Given the description of an element on the screen output the (x, y) to click on. 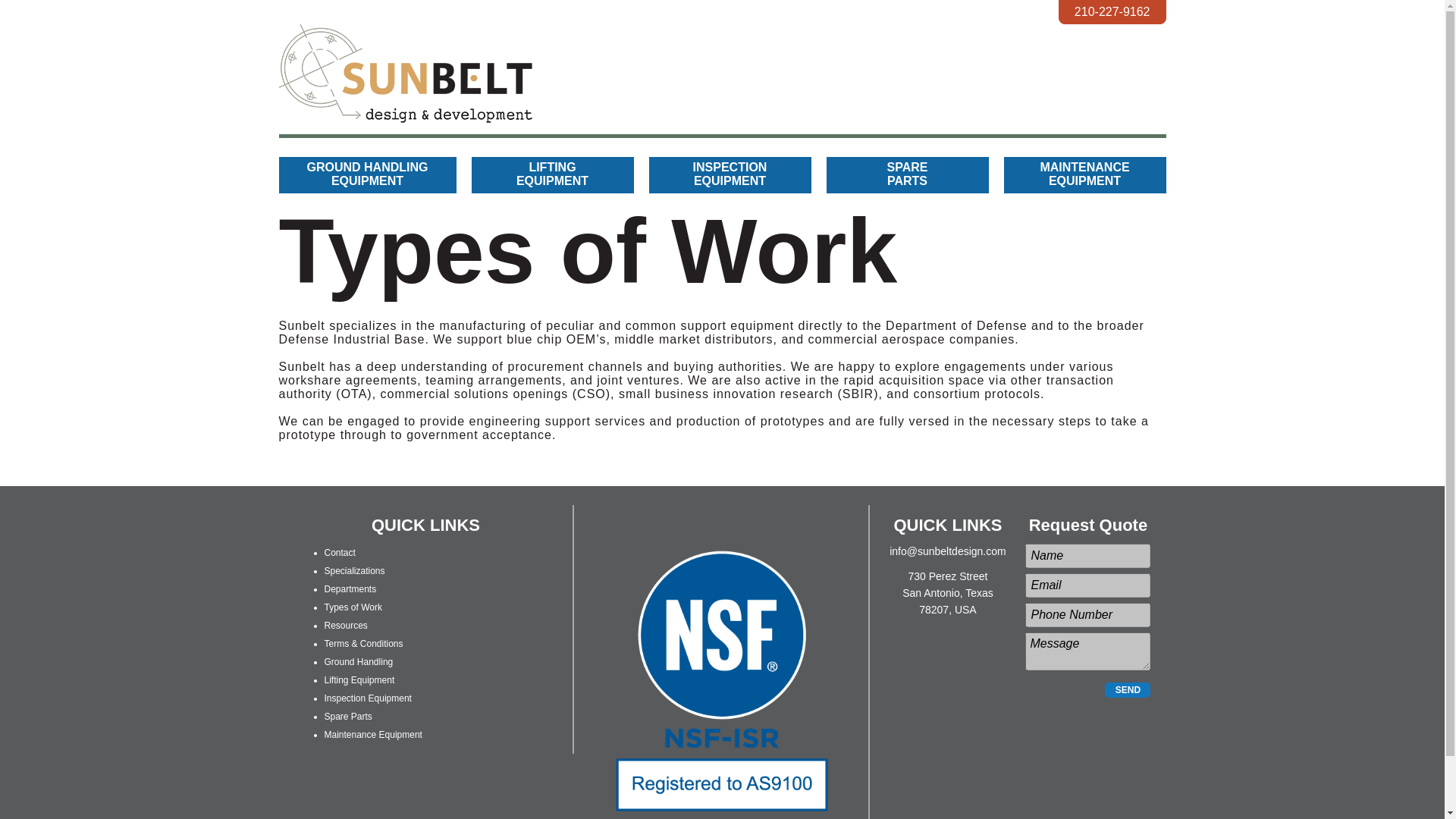
Departments (1085, 175)
Spare Parts (368, 175)
Types of Work (373, 589)
Specializations (373, 716)
210-227-9162 (373, 607)
Resources (373, 571)
SEND (1112, 12)
Ground Handling (907, 175)
Inspection Equipment (373, 625)
Lifting Equipment (1127, 689)
Contact (373, 662)
